Given the description of an element on the screen output the (x, y) to click on. 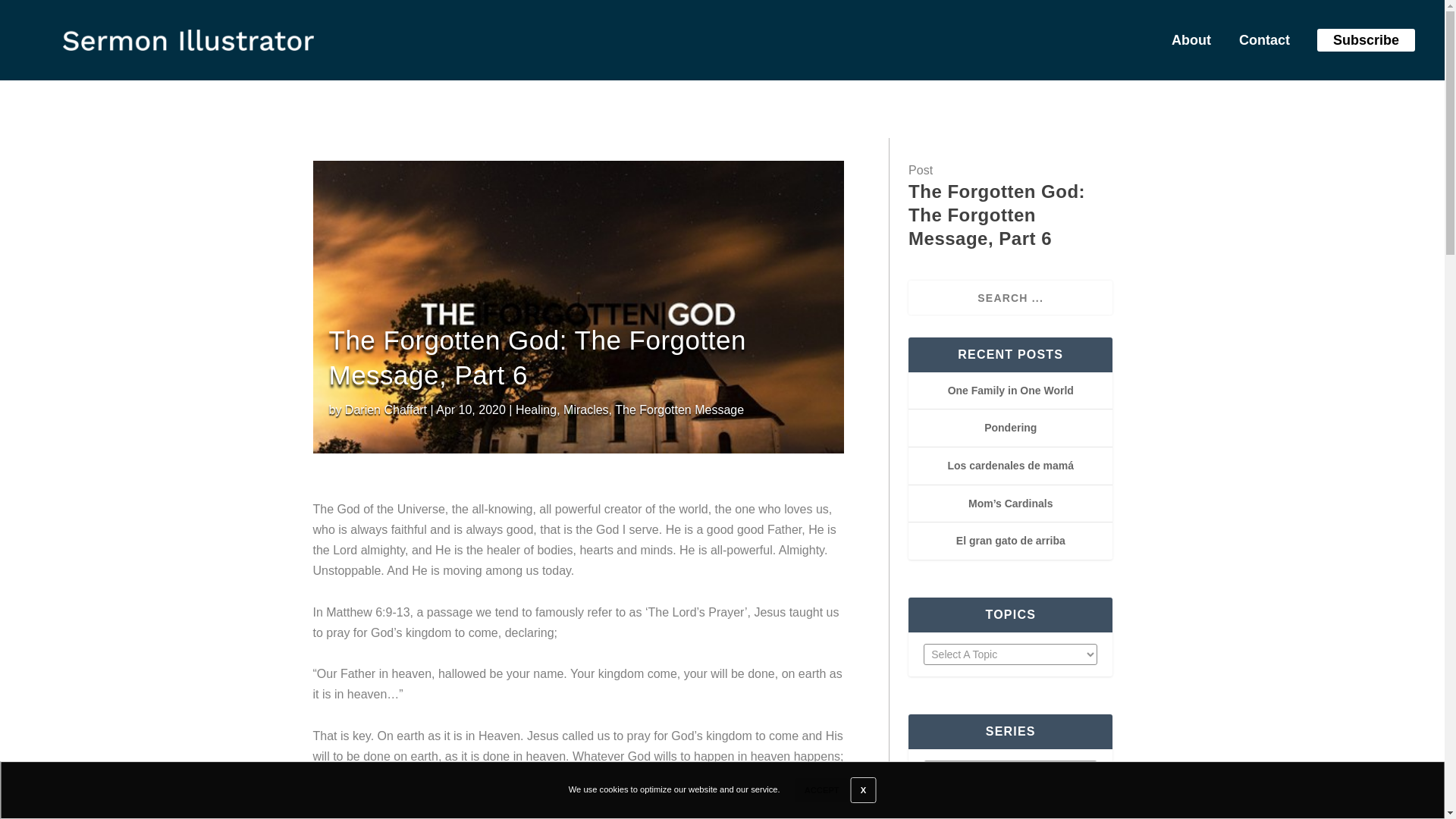
Contact (1258, 43)
X (863, 790)
Healing (535, 409)
About (1185, 43)
One Family in One World (1010, 390)
ACCEPT (821, 790)
New Project (188, 39)
Miracles (585, 409)
Posts by Darien Chaffart (385, 409)
El gran gato de arriba (1010, 540)
